Given the description of an element on the screen output the (x, y) to click on. 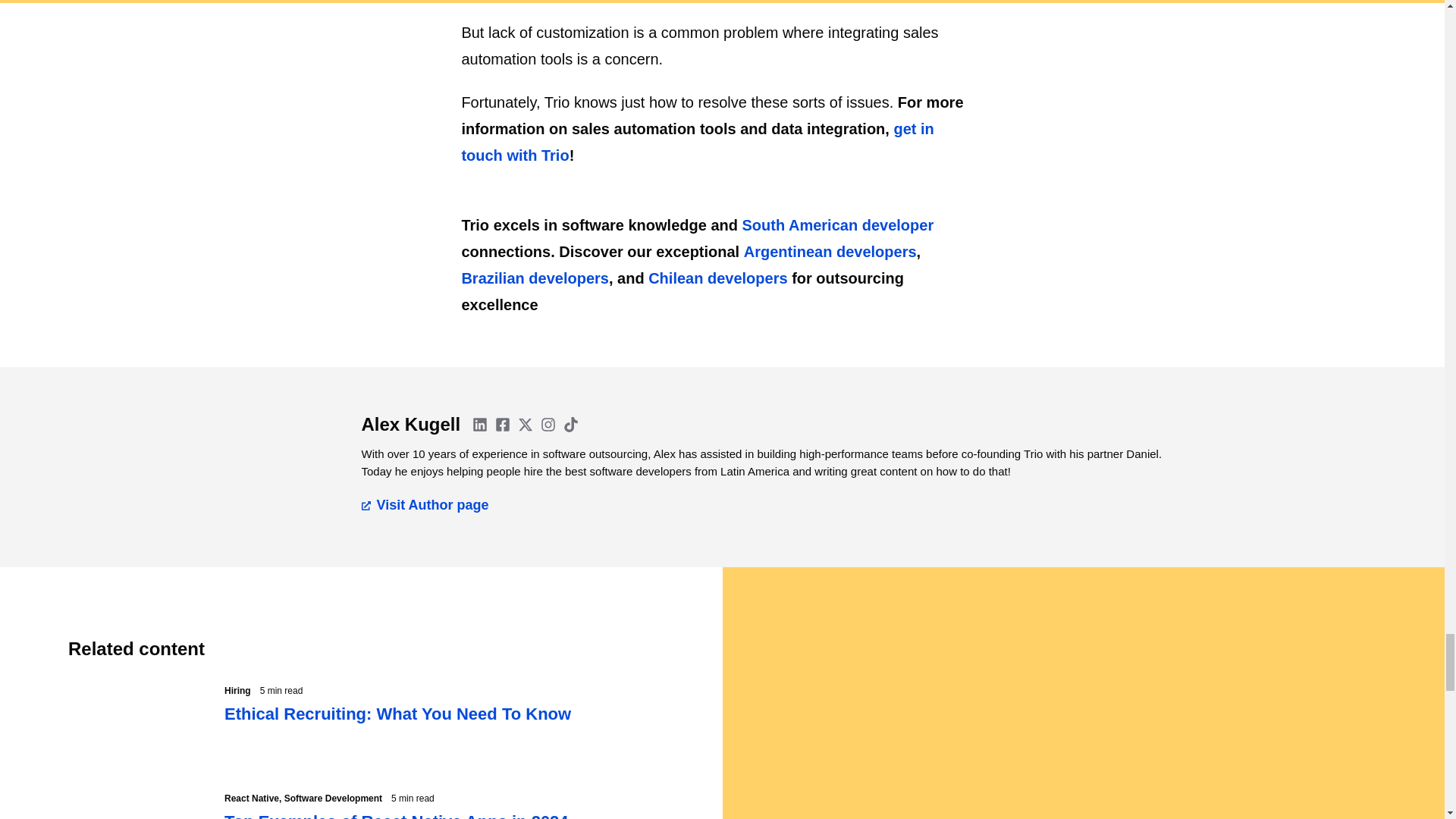
get in touch with Trio (697, 141)
Brazilian developers (534, 278)
South American developer (838, 225)
Argentinean developers (830, 251)
Chilean developers (717, 278)
